Given the description of an element on the screen output the (x, y) to click on. 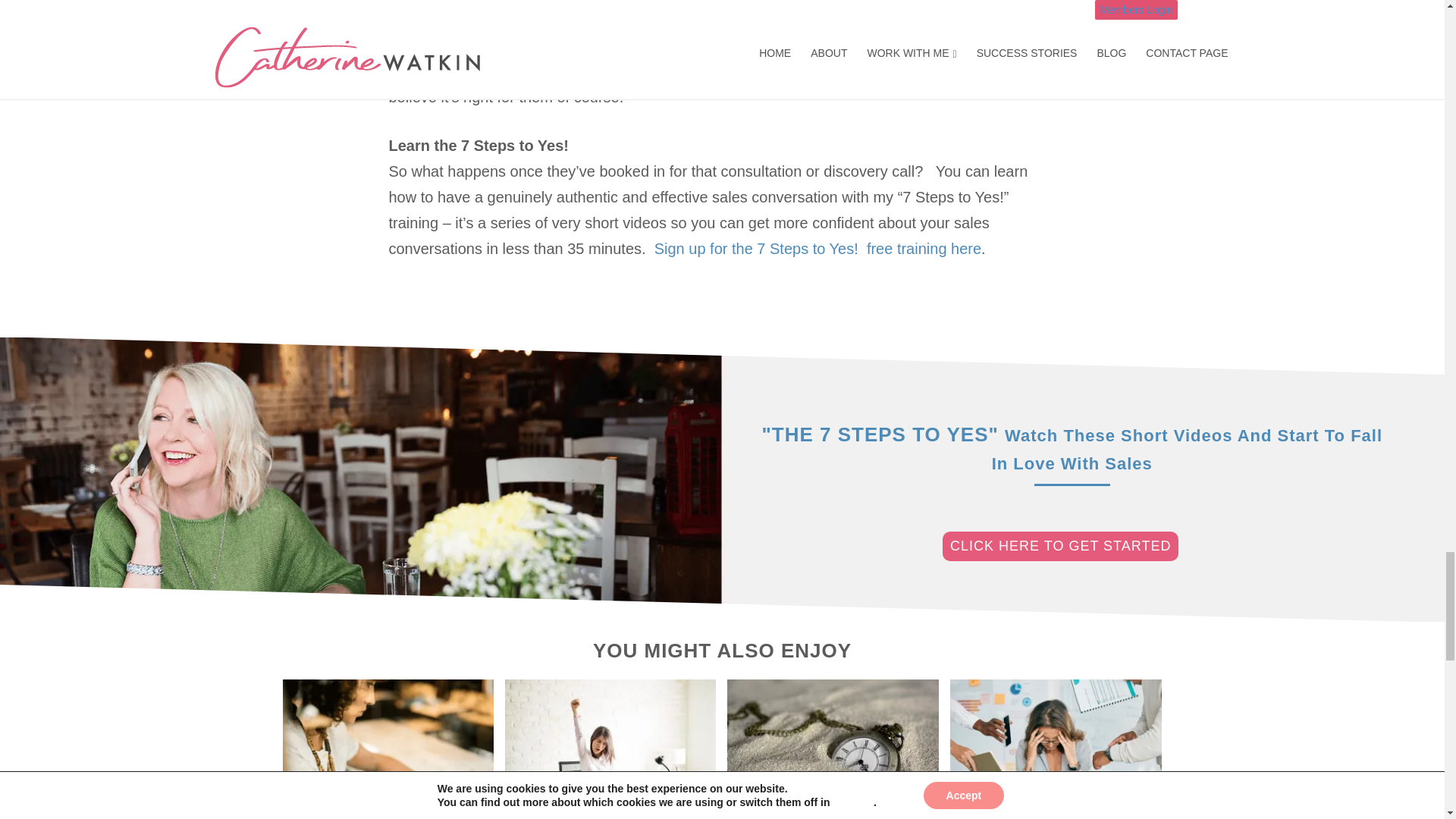
How to Set the Right Price for your Services (387, 749)
CLICK HERE TO GET STARTED (1059, 546)
Sign up for the 7 Steps to Yes!  free training here (817, 248)
